Given the description of an element on the screen output the (x, y) to click on. 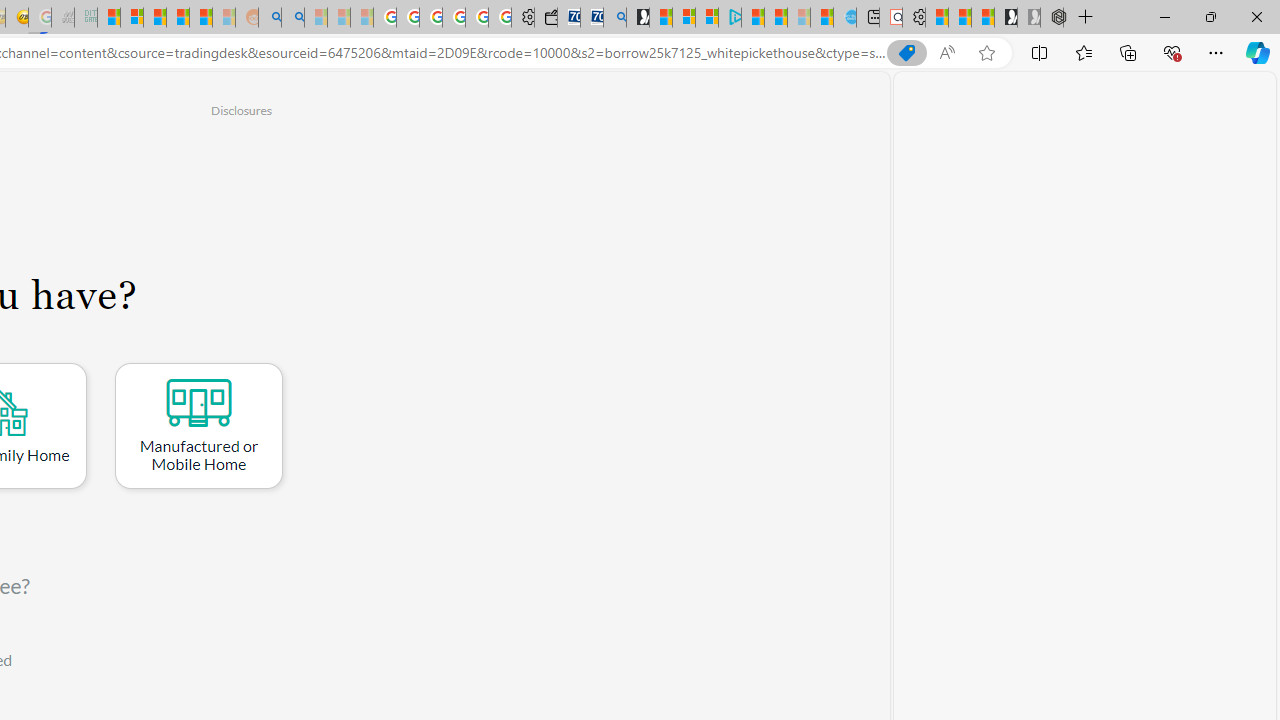
Utah sues federal government - Search (292, 17)
